Given the description of an element on the screen output the (x, y) to click on. 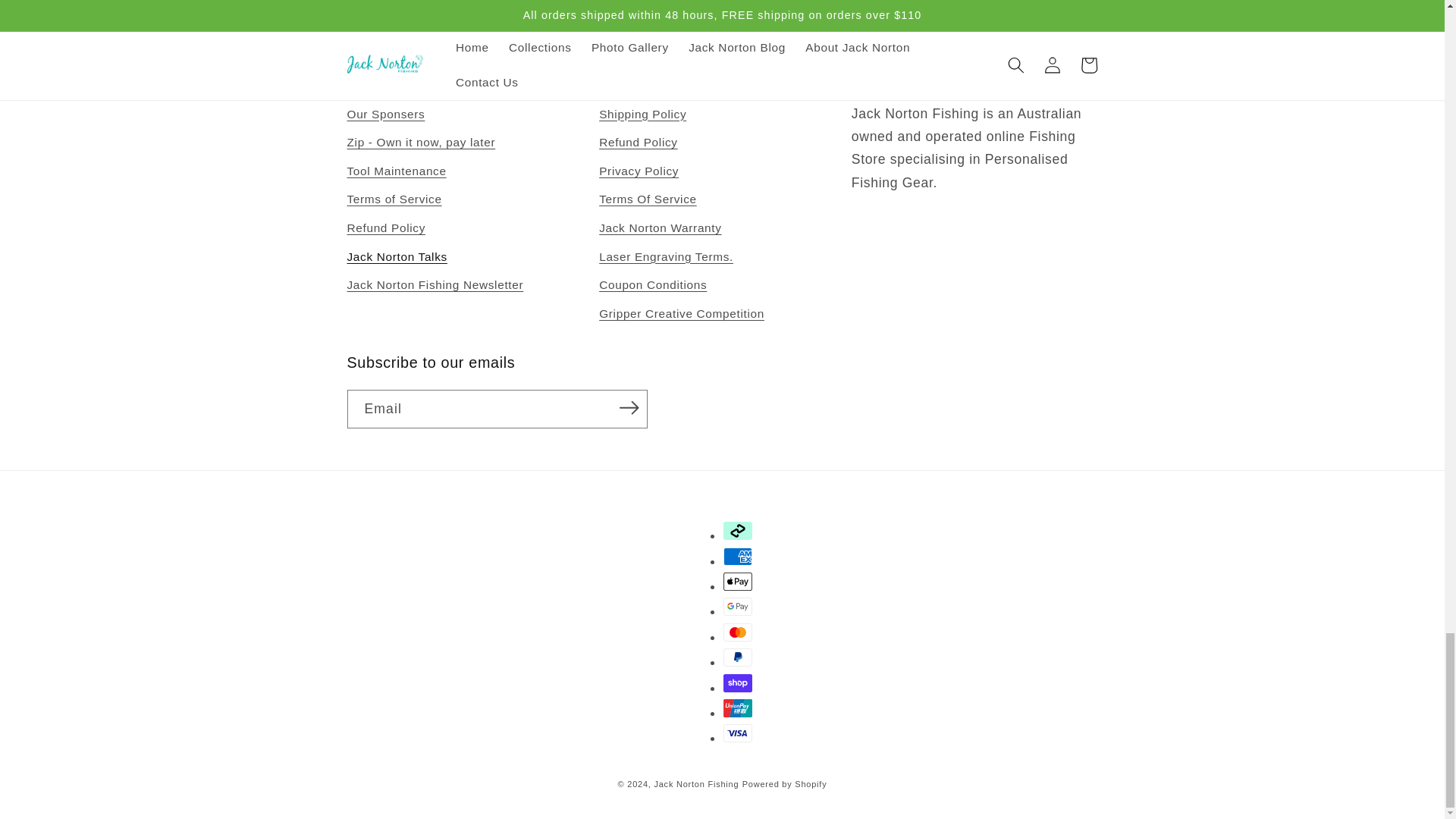
Shipping Policy (641, 116)
Refund Policy (638, 143)
American Express (737, 556)
Jack Norton Warranty (659, 227)
Shop Pay (737, 682)
Zip - Own it now, pay later (421, 143)
Jack Norton Fishing Newsletter (435, 285)
Mastercard (737, 632)
Tool Maintenance (396, 171)
Refund Policy (386, 227)
